Given the description of an element on the screen output the (x, y) to click on. 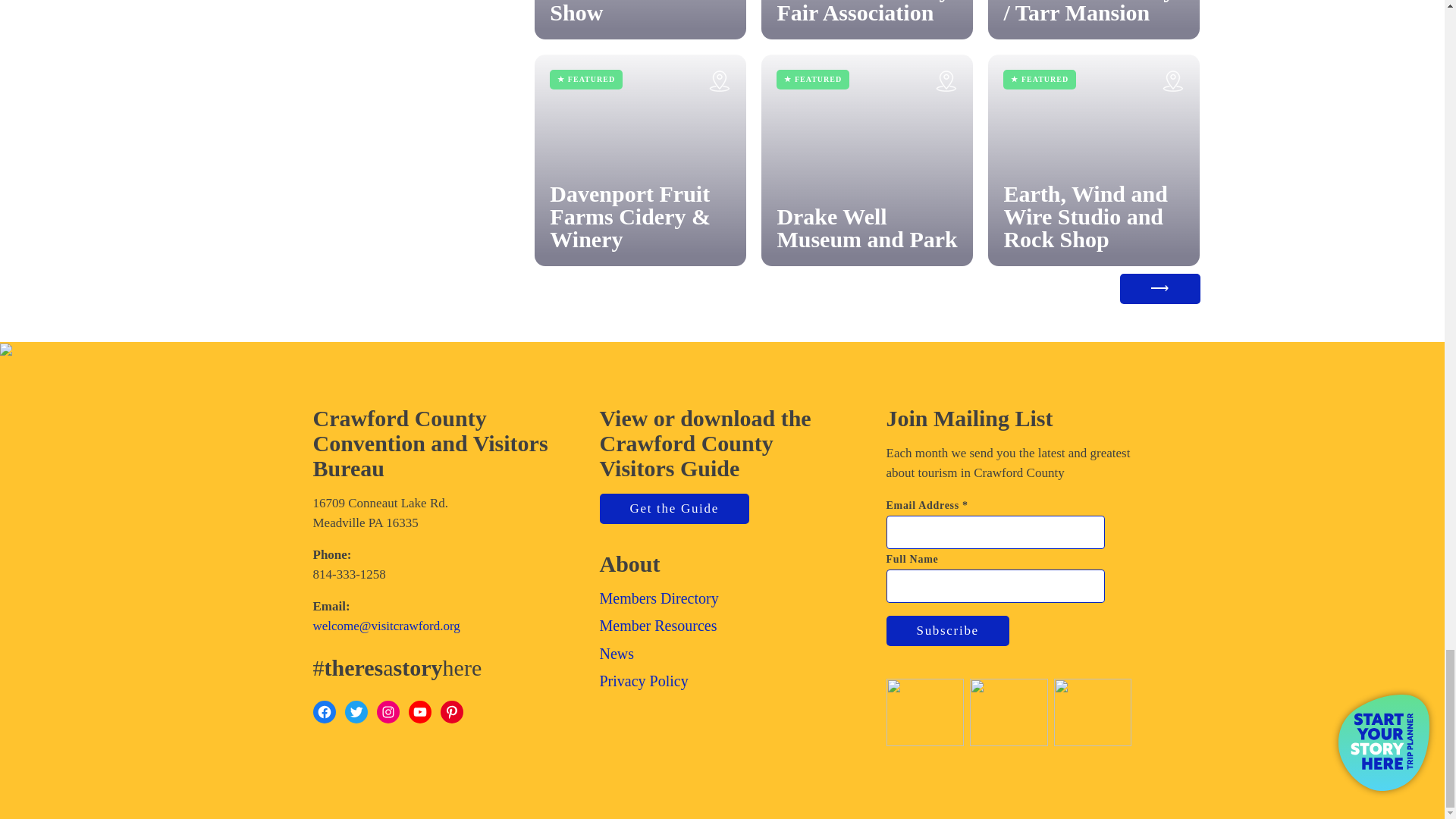
Subscribe (947, 630)
